Given the description of an element on the screen output the (x, y) to click on. 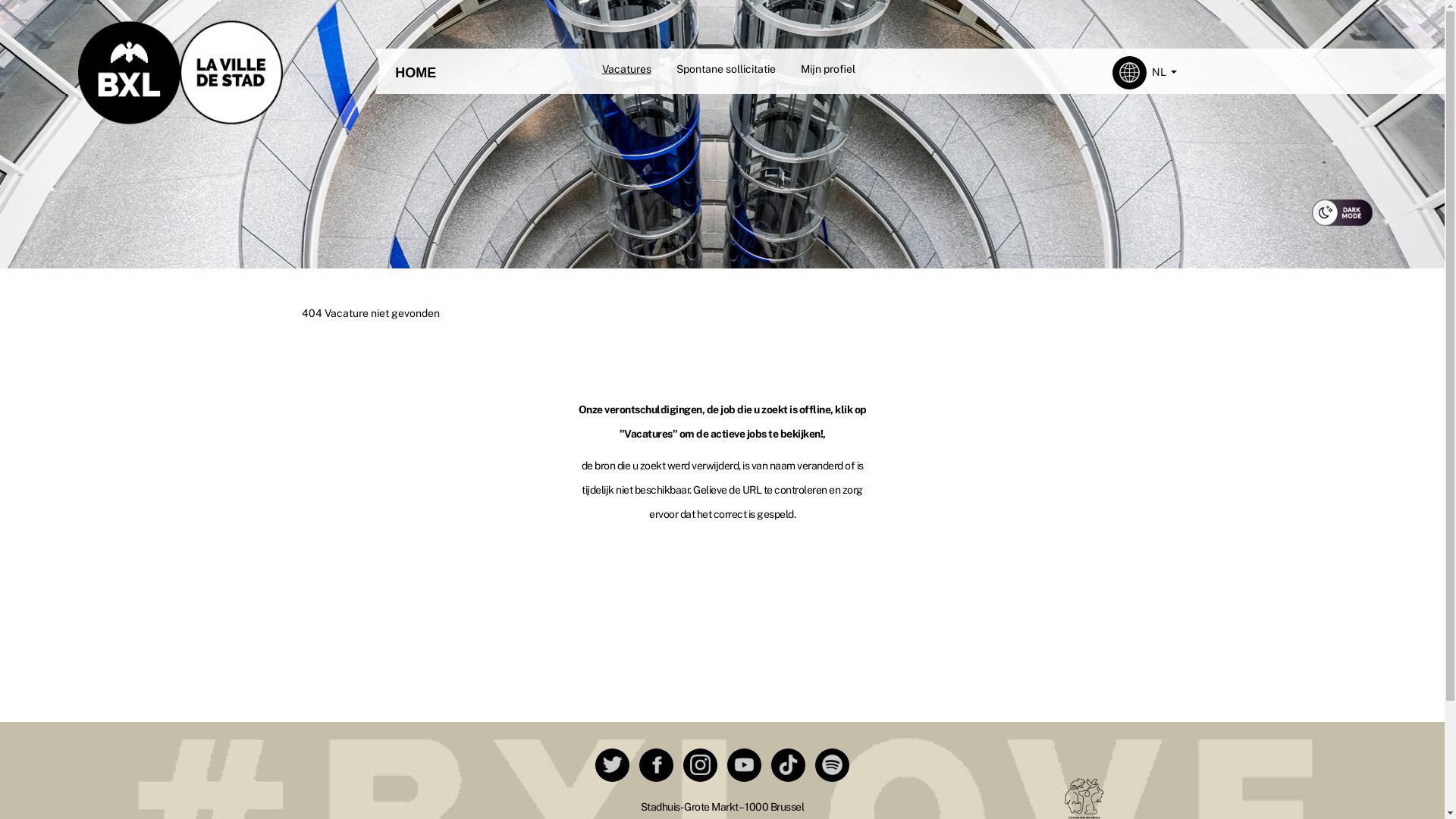
Vacatures Element type: text (626, 68)
HOME Element type: text (415, 72)
Onthaalpagina stad Brussel Element type: hover (180, 68)
Mijn profiel Element type: text (827, 68)
Spotify Element type: hover (832, 764)
NL  Element type: text (1164, 71)
Instagram Element type: hover (700, 764)
Youtube Element type: hover (744, 764)
Tiktok Element type: hover (788, 764)
Spontane sollicitatie Element type: text (725, 68)
Facebook Element type: hover (656, 764)
Twitter Element type: hover (612, 764)
